Given the description of an element on the screen output the (x, y) to click on. 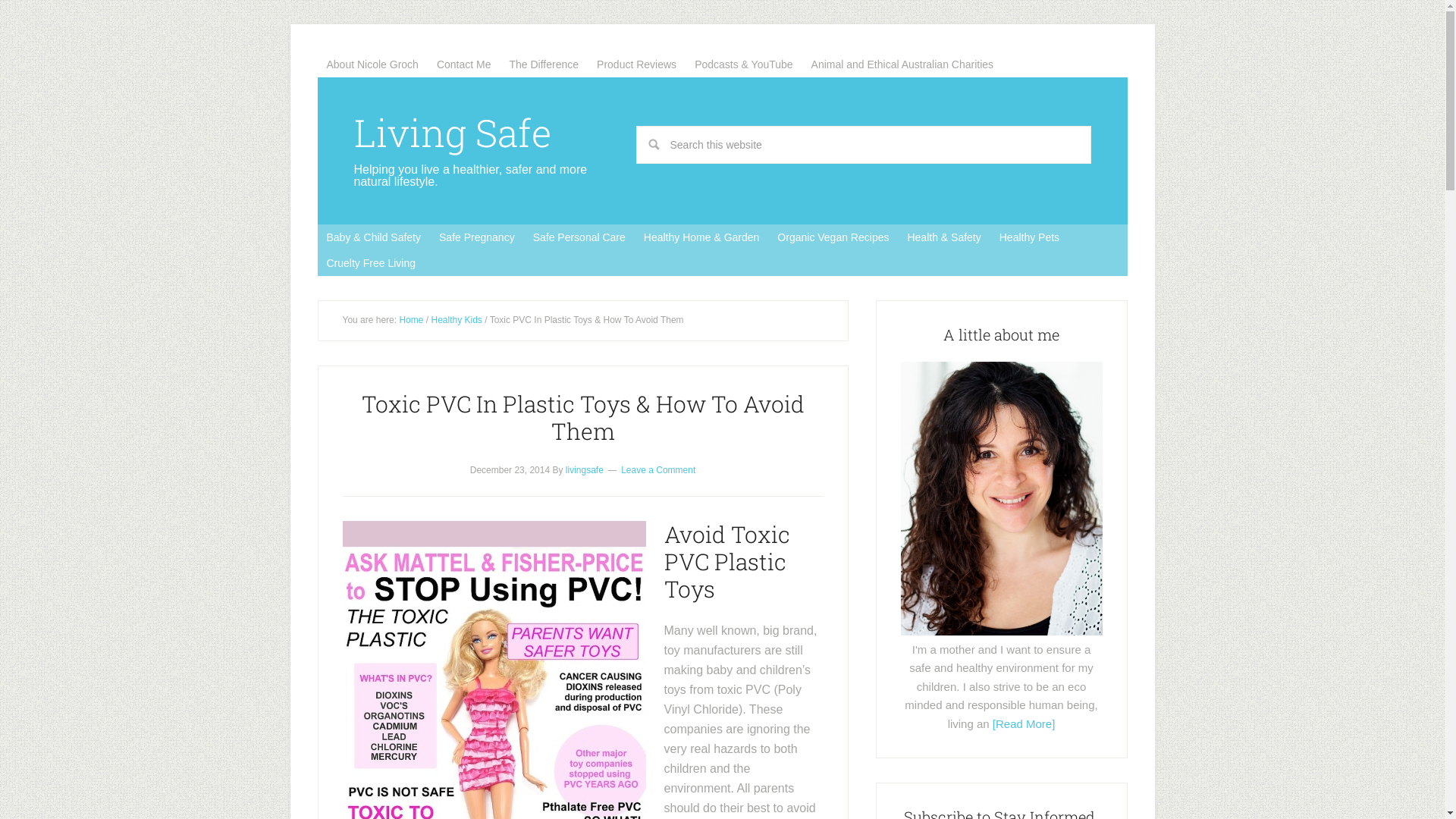
Safe Pregnancy Element type: text (476, 237)
Organic Vegan Recipes Element type: text (832, 237)
Podcasts & YouTube Element type: text (743, 64)
Product Reviews Element type: text (636, 64)
Animal and Ethical Australian Charities Element type: text (902, 64)
livingsafe Element type: text (584, 469)
Health & Safety Element type: text (943, 237)
Healthy Pets Element type: text (1029, 237)
Living Safe Element type: text (451, 132)
About Nicole Groch Element type: text (371, 64)
Search Element type: text (1090, 125)
Healthy Kids Element type: text (455, 319)
Safe Personal Care Element type: text (579, 237)
The Difference Element type: text (544, 64)
[Read More] Element type: text (1023, 723)
Leave a Comment Element type: text (658, 469)
Baby & Child Safety Element type: text (372, 237)
Healthy Home & Garden Element type: text (701, 237)
Contact Me Element type: text (463, 64)
Home Element type: text (410, 319)
Cruelty Free Living Element type: text (370, 263)
